Given the description of an element on the screen output the (x, y) to click on. 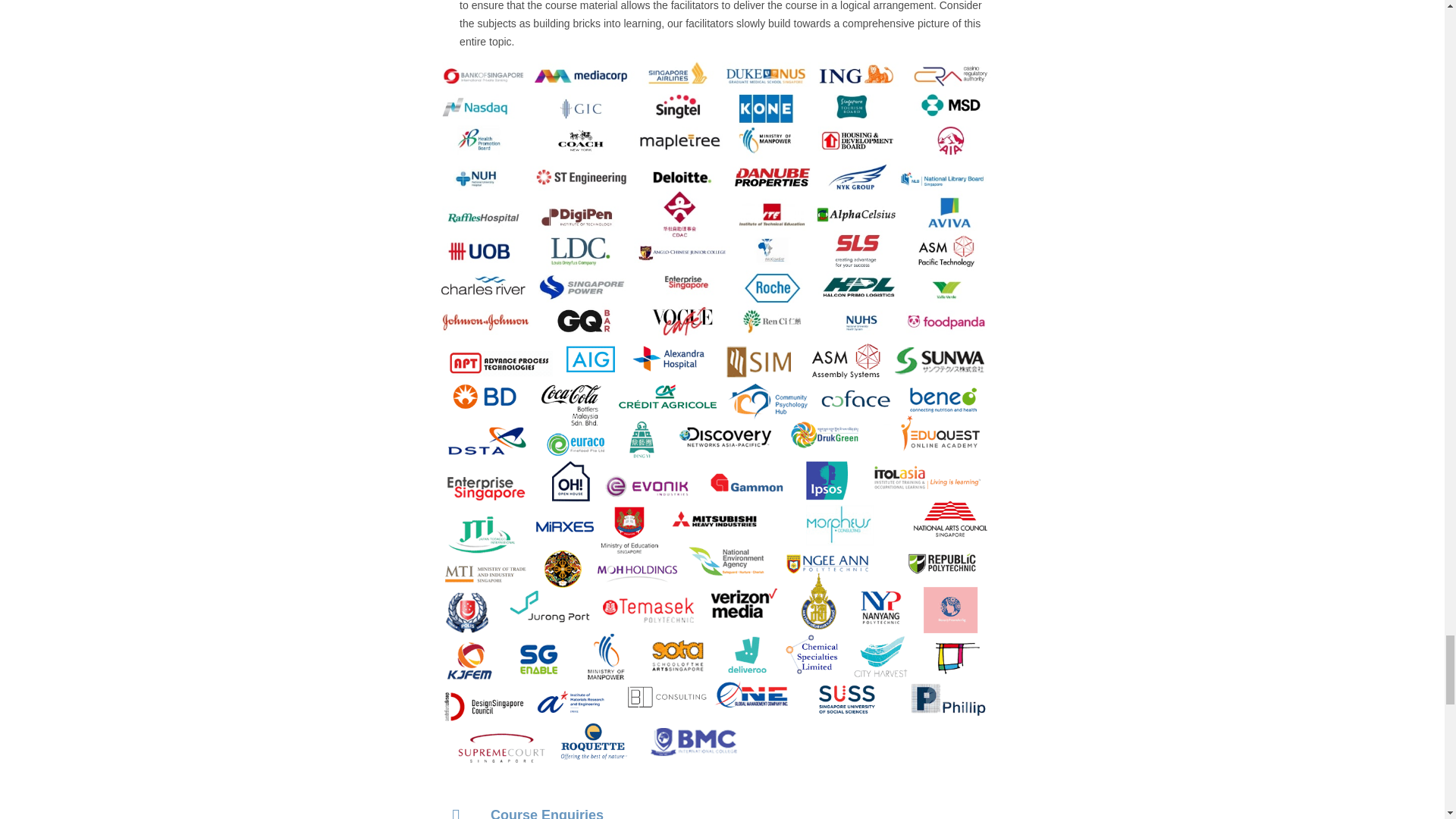
Course Enquiries (714, 802)
